Given the description of an element on the screen output the (x, y) to click on. 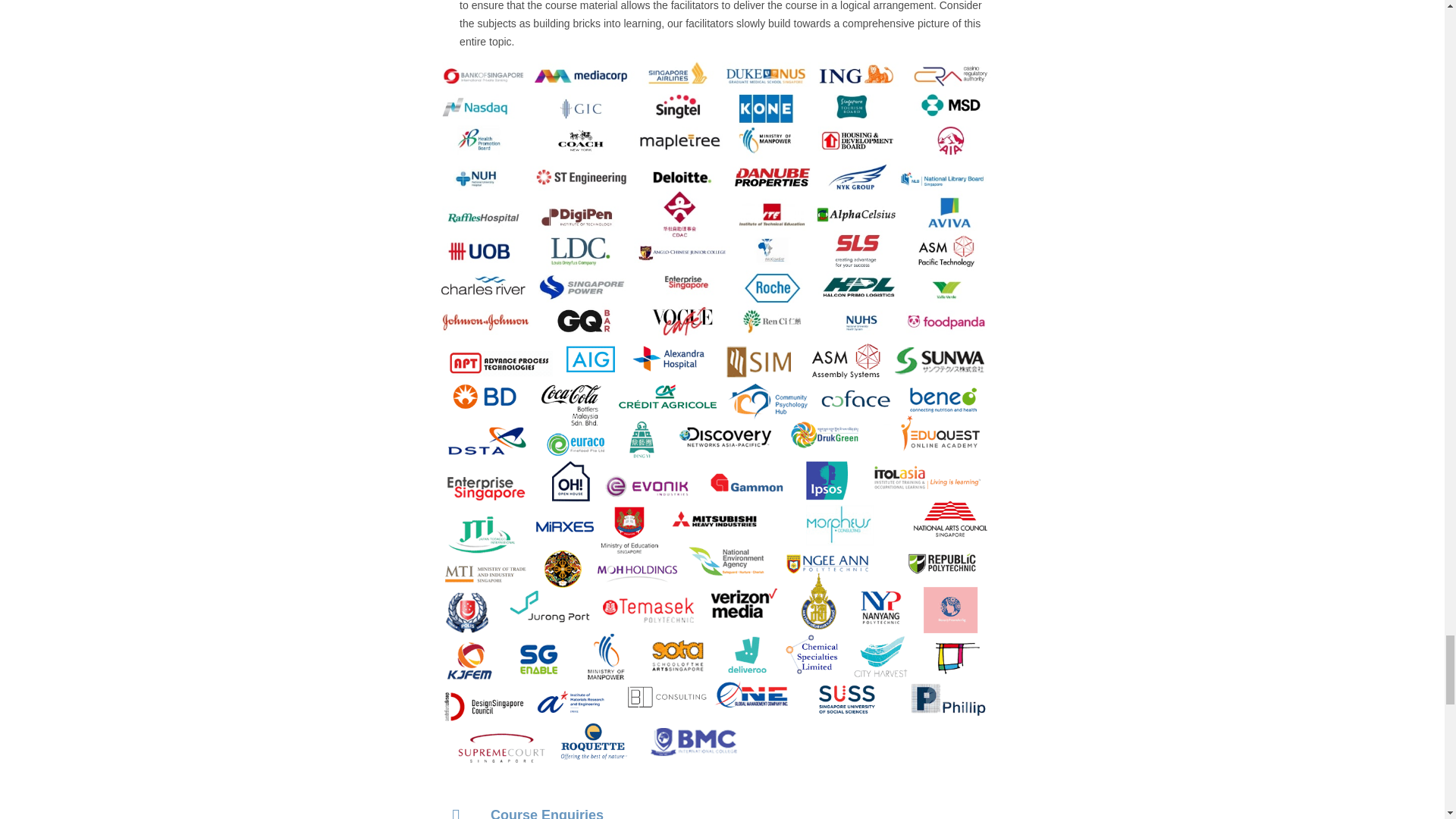
Course Enquiries (714, 802)
